Given the description of an element on the screen output the (x, y) to click on. 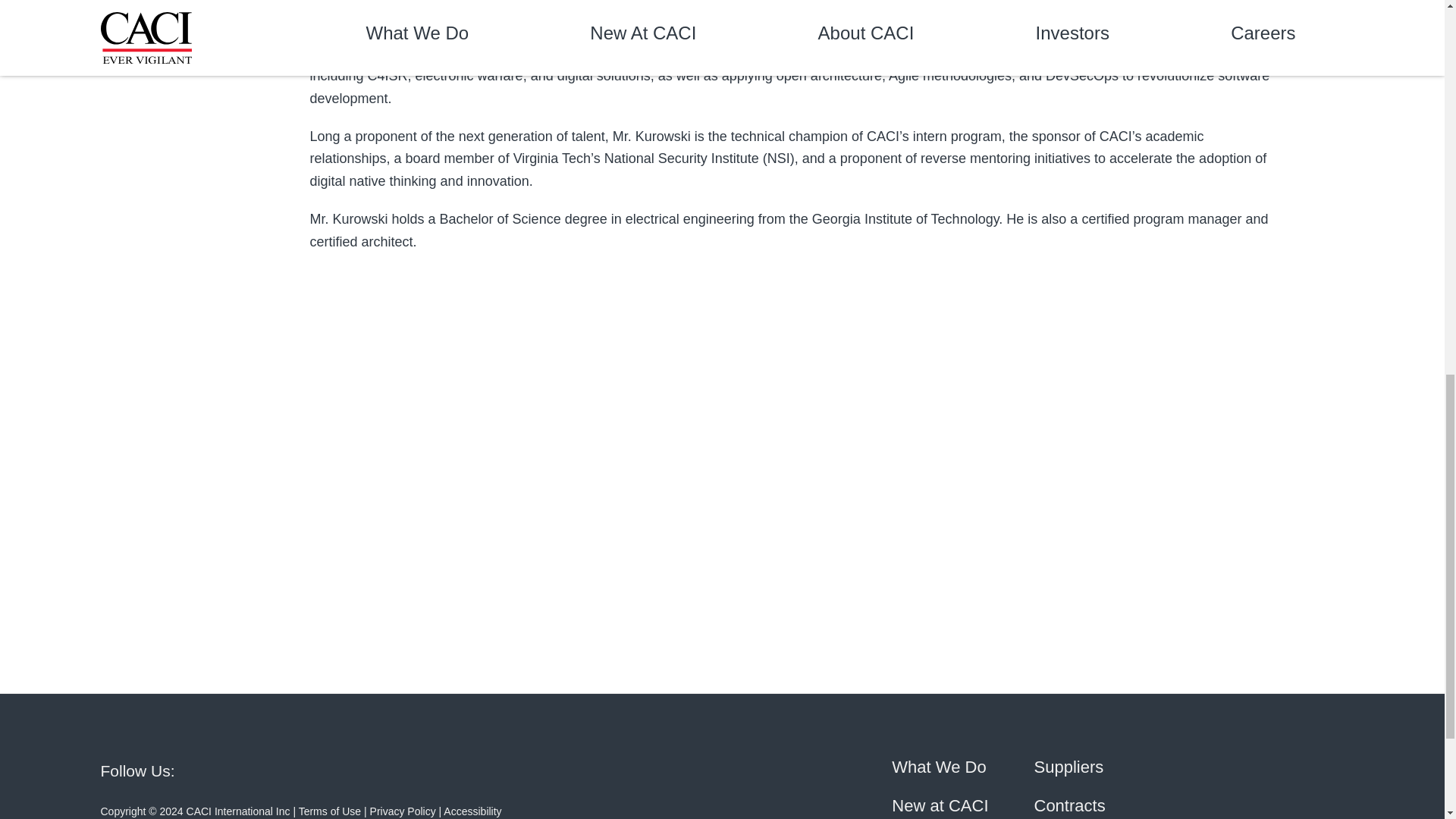
CACI Supplier Portal (1068, 766)
Twitter (354, 769)
Instagram (491, 769)
BROWSE CAREERS AT CACI (224, 534)
Facebook (423, 769)
LinkedIn (218, 769)
Terms of Use (329, 811)
YouTube (286, 769)
